Given the description of an element on the screen output the (x, y) to click on. 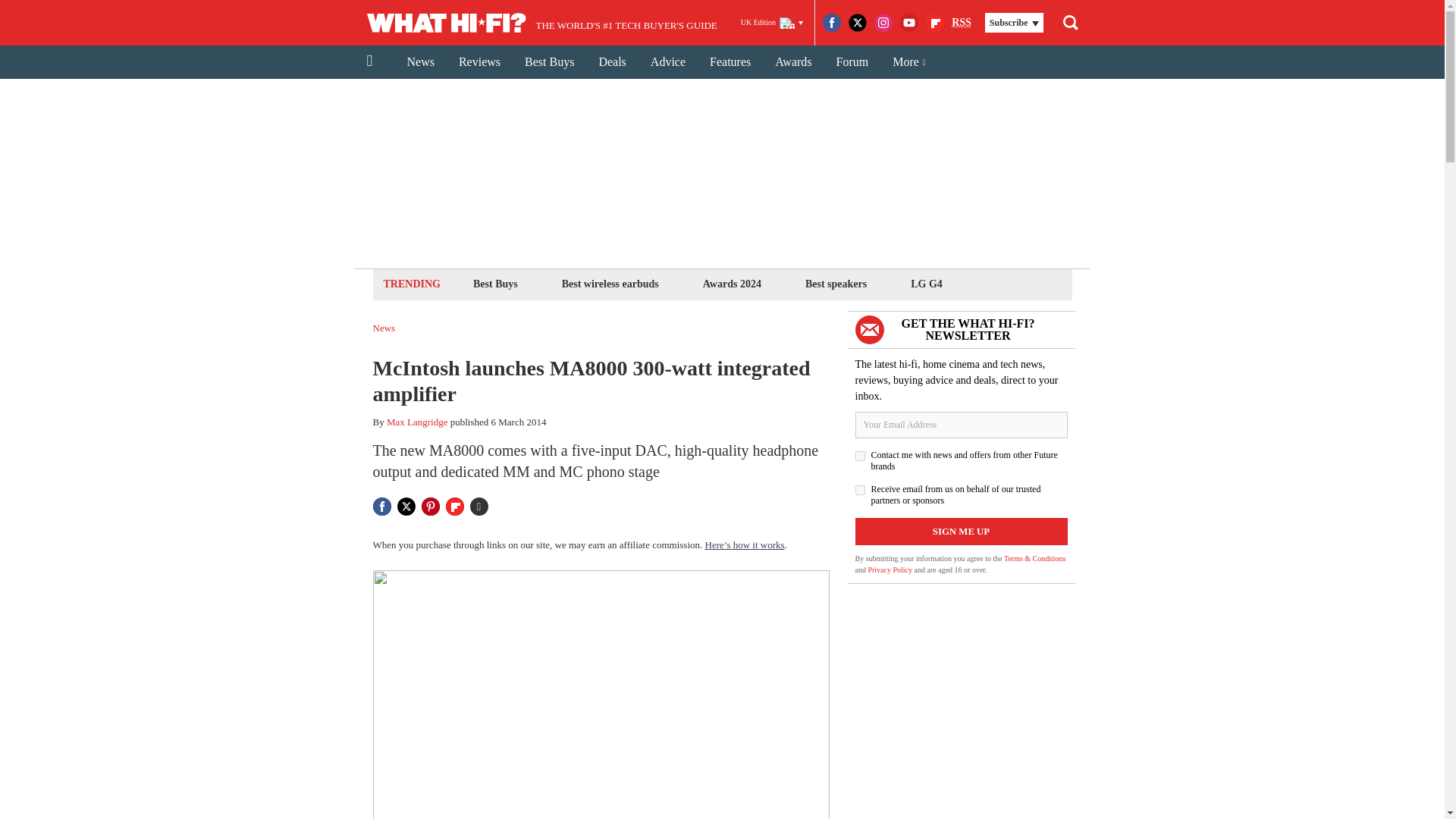
UK Edition (771, 22)
Best wireless earbuds (609, 283)
Forum (852, 61)
Sign me up (961, 531)
on (860, 490)
Awards (793, 61)
Advice (668, 61)
Features (729, 61)
RSS (961, 22)
Best speakers (835, 283)
